Given the description of an element on the screen output the (x, y) to click on. 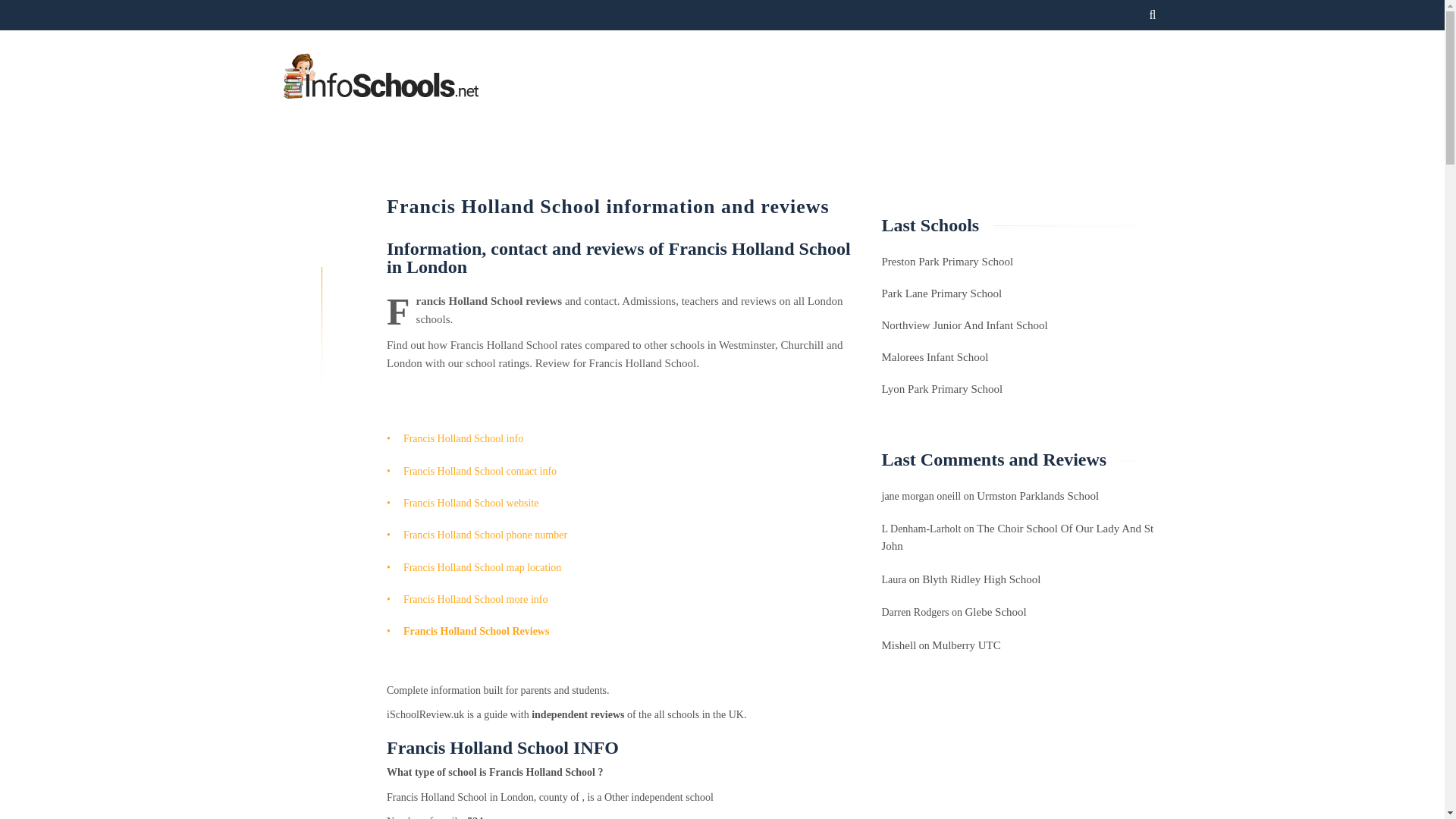
Francis Holland School website (470, 502)
Francis Holland School info (462, 438)
Francis Holland School more info (475, 599)
Francis Holland School contact info (479, 471)
Francis Holland School Reviews (476, 631)
Francis Holland School map location (481, 567)
Francis Holland School phone number (485, 534)
